Given the description of an element on the screen output the (x, y) to click on. 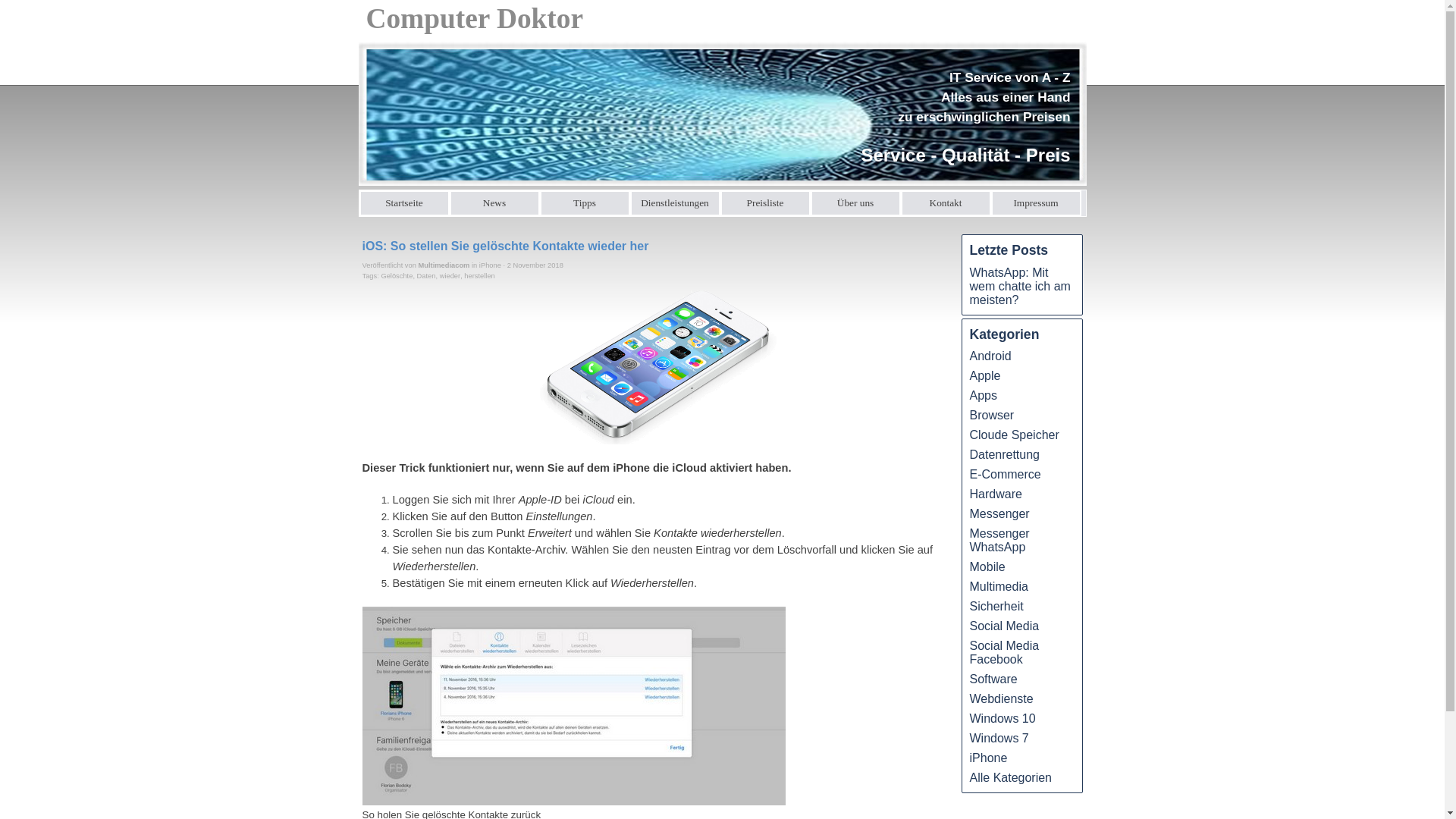
Cloude Speicher Element type: text (1013, 434)
Browser Element type: text (991, 414)
Messenger Element type: text (999, 513)
herstellen Element type: text (479, 275)
Sicherheit Element type: text (995, 605)
Windows 10 Element type: text (1002, 718)
Windows 7 Element type: text (998, 737)
iPhone Element type: text (490, 265)
Hardware Element type: text (995, 493)
Dienstleistungen Element type: text (674, 202)
Multimediacom Element type: text (443, 265)
Daten Element type: text (426, 275)
E-Commerce Element type: text (1004, 473)
Apps Element type: text (982, 395)
WhatsApp: Mit wem chatte ich am meisten? Element type: text (1019, 286)
Webdienste Element type: text (1000, 698)
Alle Kategorien Element type: text (1010, 777)
Multimedia Element type: text (998, 586)
iPhone Element type: text (988, 757)
News Element type: text (493, 202)
wieder Element type: text (449, 275)
Startseite Element type: text (404, 202)
Datenrettung Element type: text (1004, 454)
Android Element type: text (989, 355)
Mobile Element type: text (986, 566)
Impressum Element type: text (1035, 202)
Apple Element type: text (984, 375)
Tipps Element type: text (584, 202)
Social Media Element type: text (1003, 625)
Software Element type: text (992, 678)
Messenger WhatsApp Element type: text (999, 540)
Social Media Facebook Element type: text (1003, 652)
Kontakt Element type: text (945, 202)
